Given the description of an element on the screen output the (x, y) to click on. 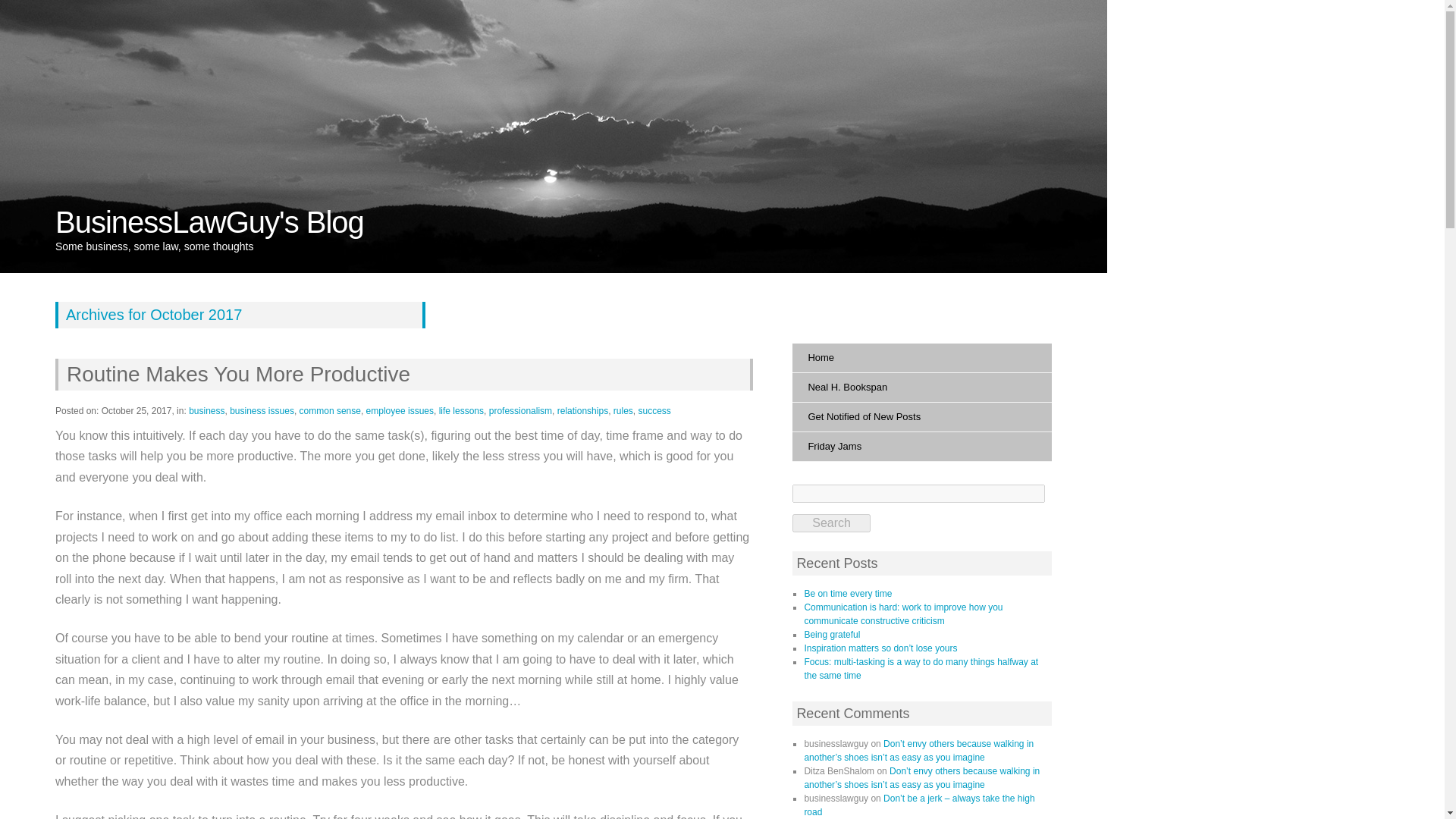
BusinessLawGuy's Blog (209, 222)
common sense (330, 410)
Search (830, 523)
Routine Makes You More Productive (234, 373)
Home (921, 357)
employee issues (399, 410)
Neal H. Bookspan (921, 387)
Being grateful (831, 634)
business (206, 410)
Search (830, 523)
Be on time every time (847, 593)
Friday Jams (921, 446)
professionalism (520, 410)
rules (622, 410)
relationships (582, 410)
